Given the description of an element on the screen output the (x, y) to click on. 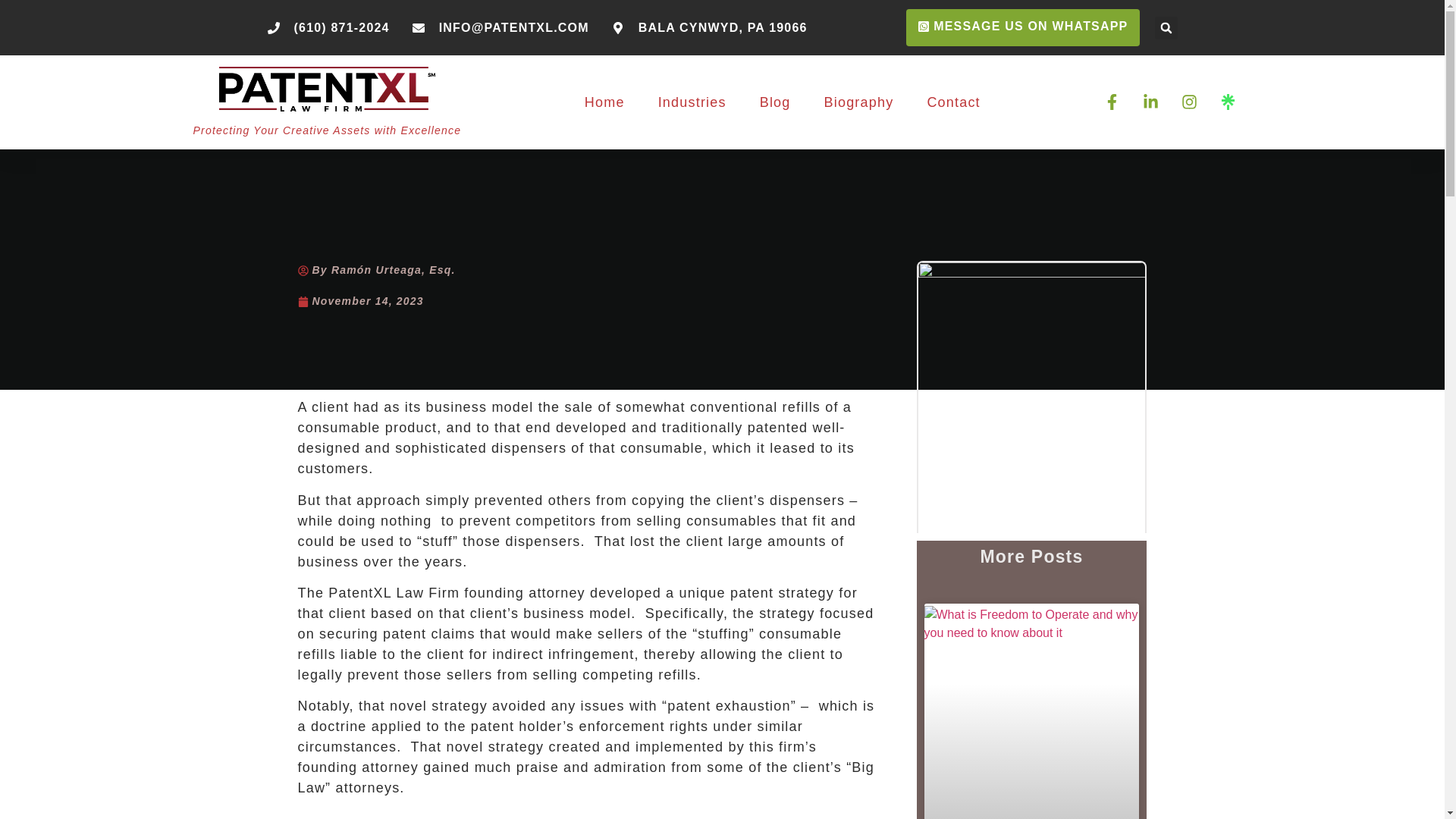
Blog (774, 102)
Home (604, 102)
Contact (953, 102)
Biography (858, 102)
MESSAGE US ON WHATSAPP (1021, 27)
Industries (691, 102)
